Given the description of an element on the screen output the (x, y) to click on. 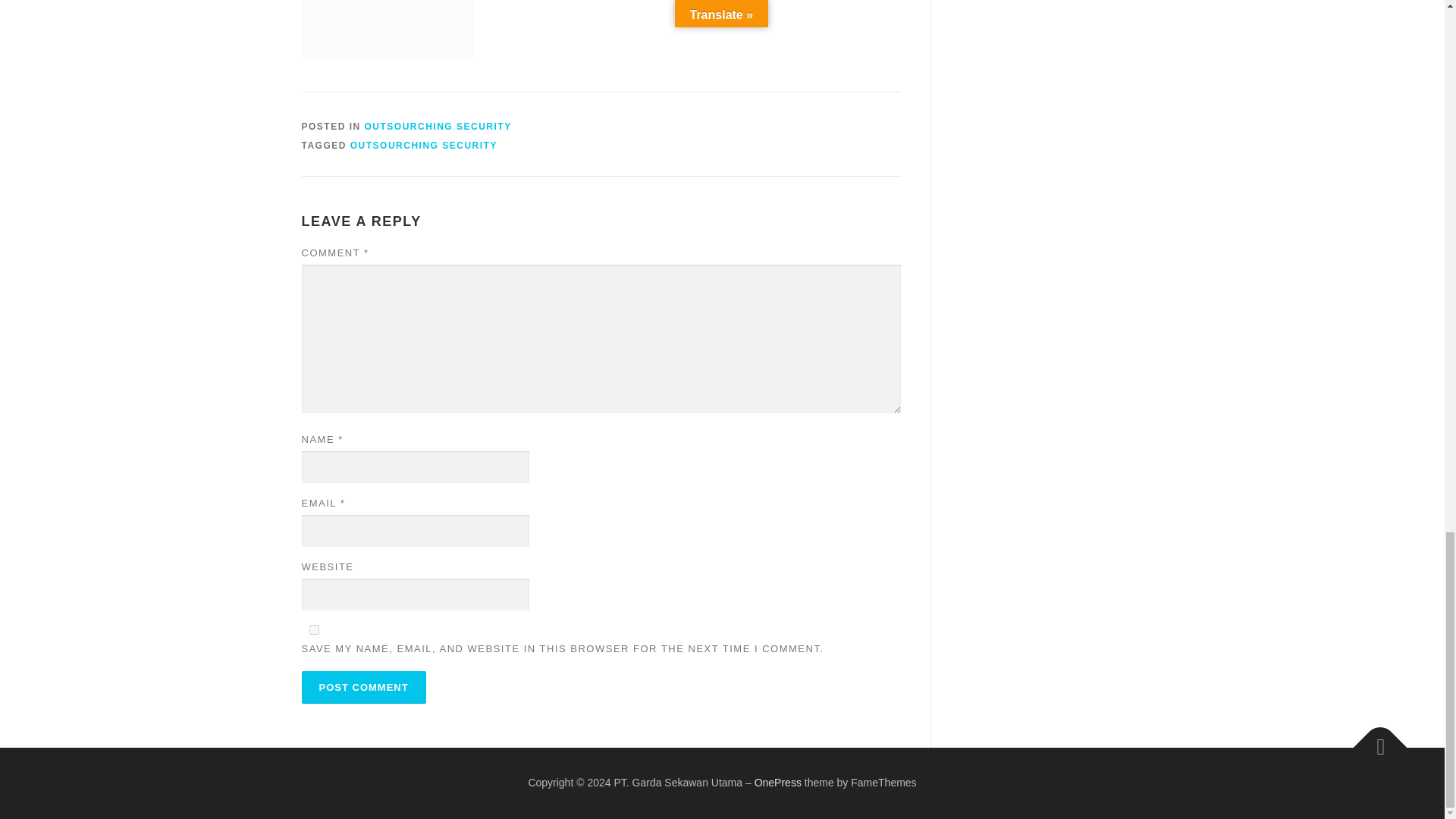
OnePress (778, 782)
yes (313, 629)
Back To Top (1372, 740)
Post Comment (363, 686)
OUTSOURCHING SECURITY (423, 145)
OUTSOURCHING SECURITY (438, 126)
Post Comment (363, 686)
